Given the description of an element on the screen output the (x, y) to click on. 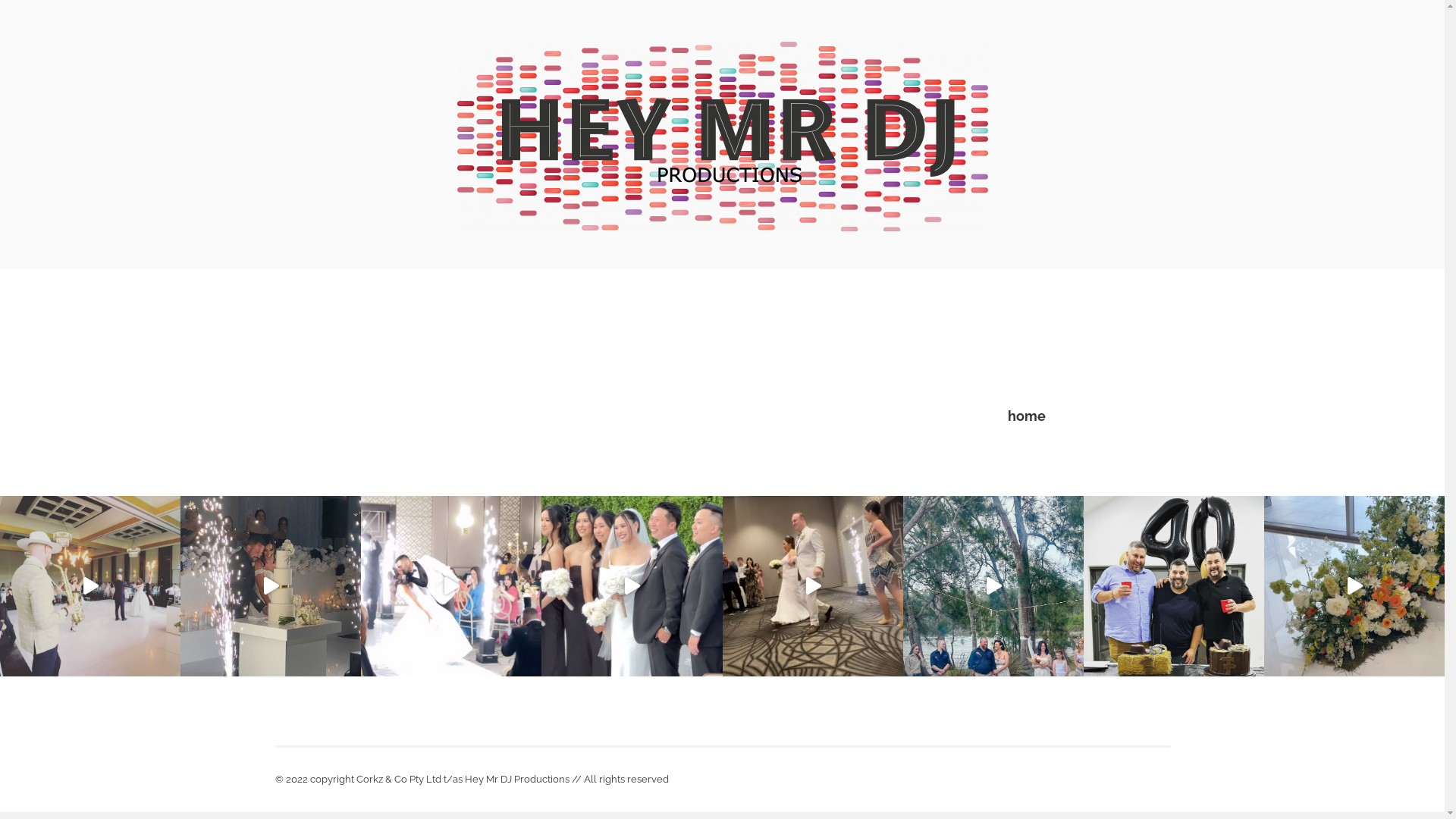
home Element type: text (1025, 415)
